Given the description of an element on the screen output the (x, y) to click on. 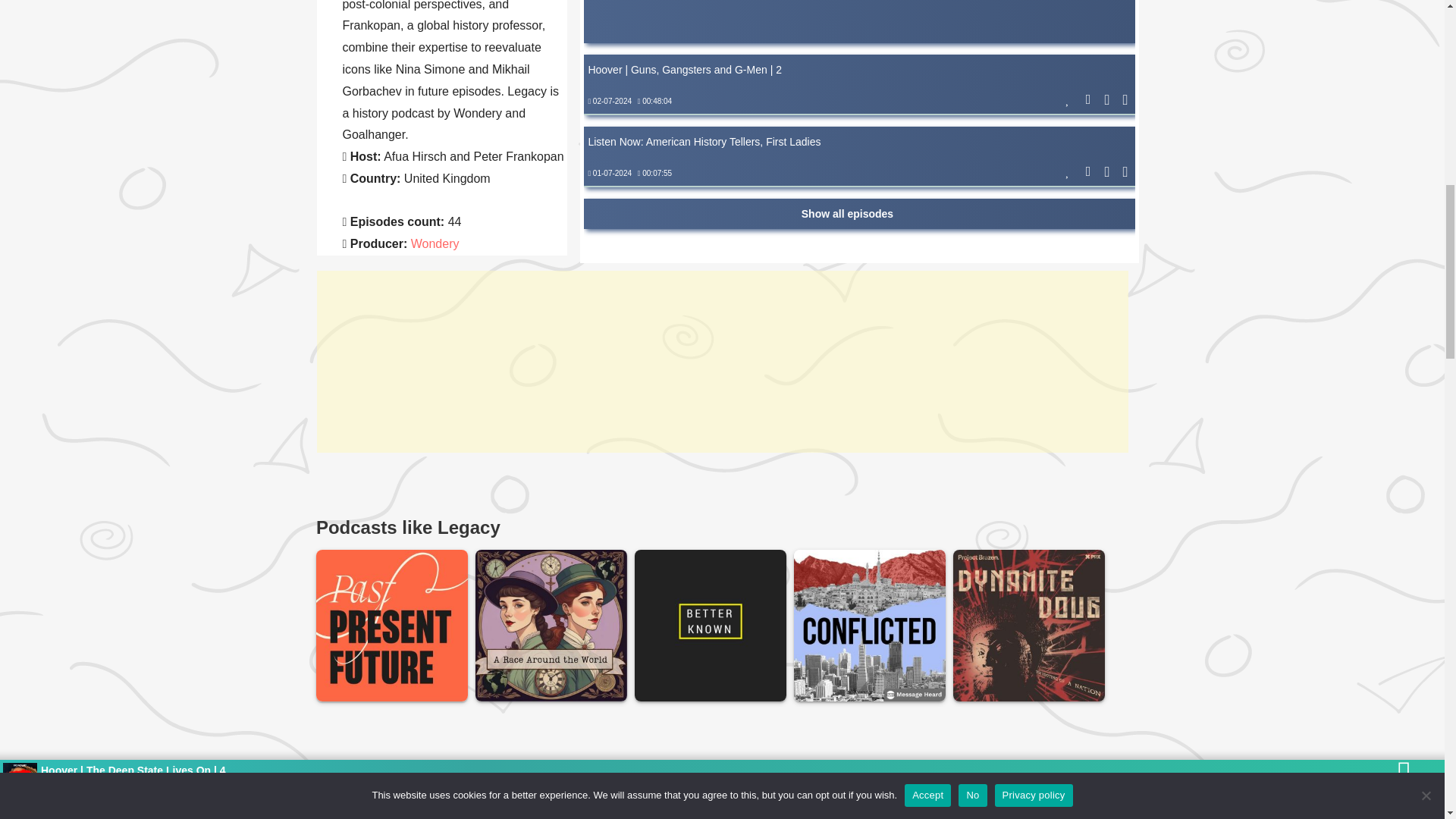
Advertisement (859, 21)
